Given the description of an element on the screen output the (x, y) to click on. 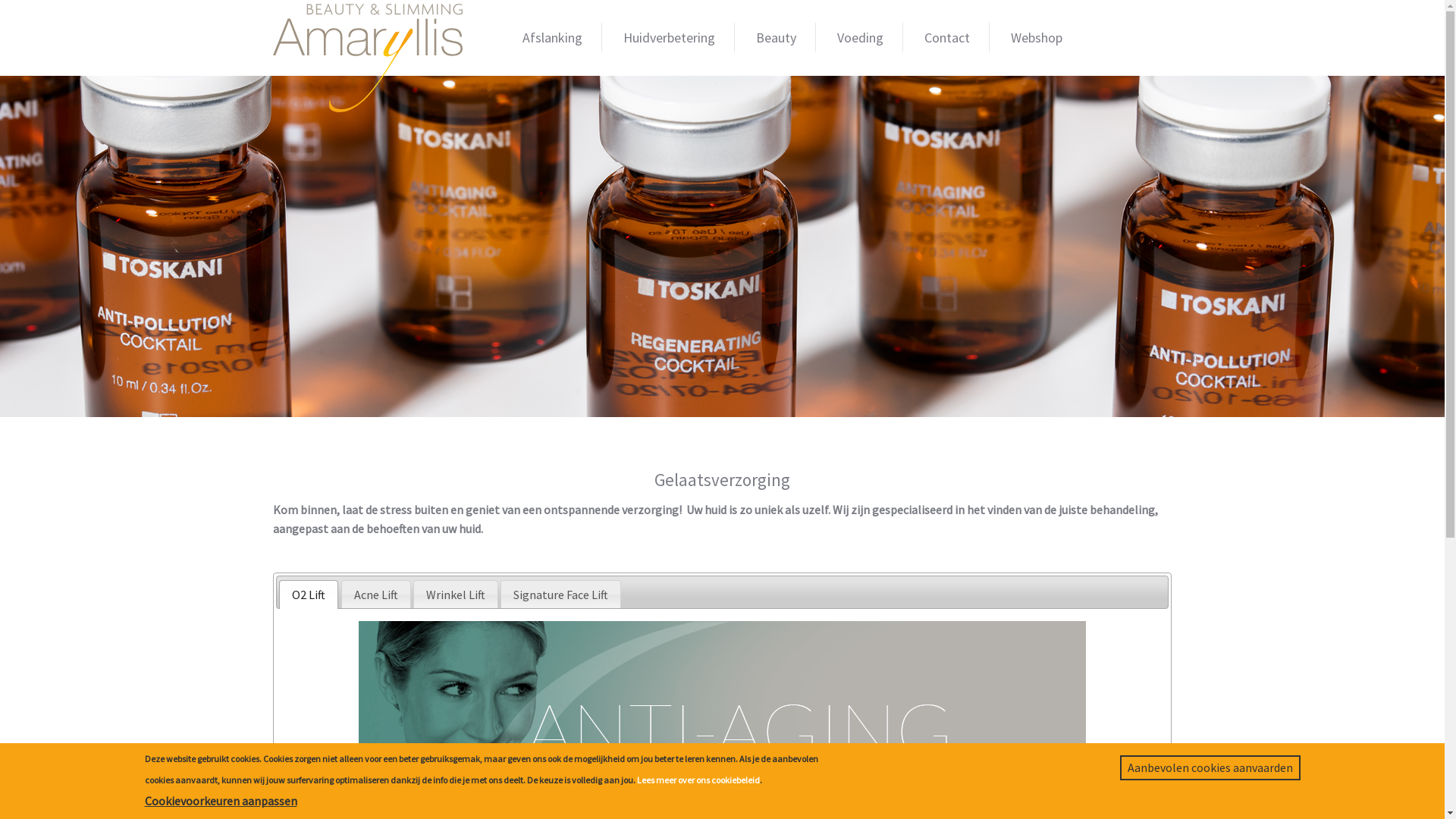
Overslaan en naar de inhoud gaan Element type: text (86, 0)
Beauty Element type: text (776, 37)
Voeding Element type: text (860, 37)
Aanbevolen cookies aanvaarden Element type: text (1209, 767)
Afslanking Element type: text (552, 37)
Contact Element type: text (947, 37)
O2 Lift Element type: text (308, 594)
Acne Lift Element type: text (376, 594)
Wrinkel Lift Element type: text (455, 594)
Signature Face Lift Element type: text (560, 594)
Webshop Element type: text (1036, 37)
Huidverbetering Element type: text (669, 37)
Lees meer over ons cookiebeleid Element type: text (698, 780)
Cookievoorkeuren aanpassen Element type: text (220, 801)
